Given the description of an element on the screen output the (x, y) to click on. 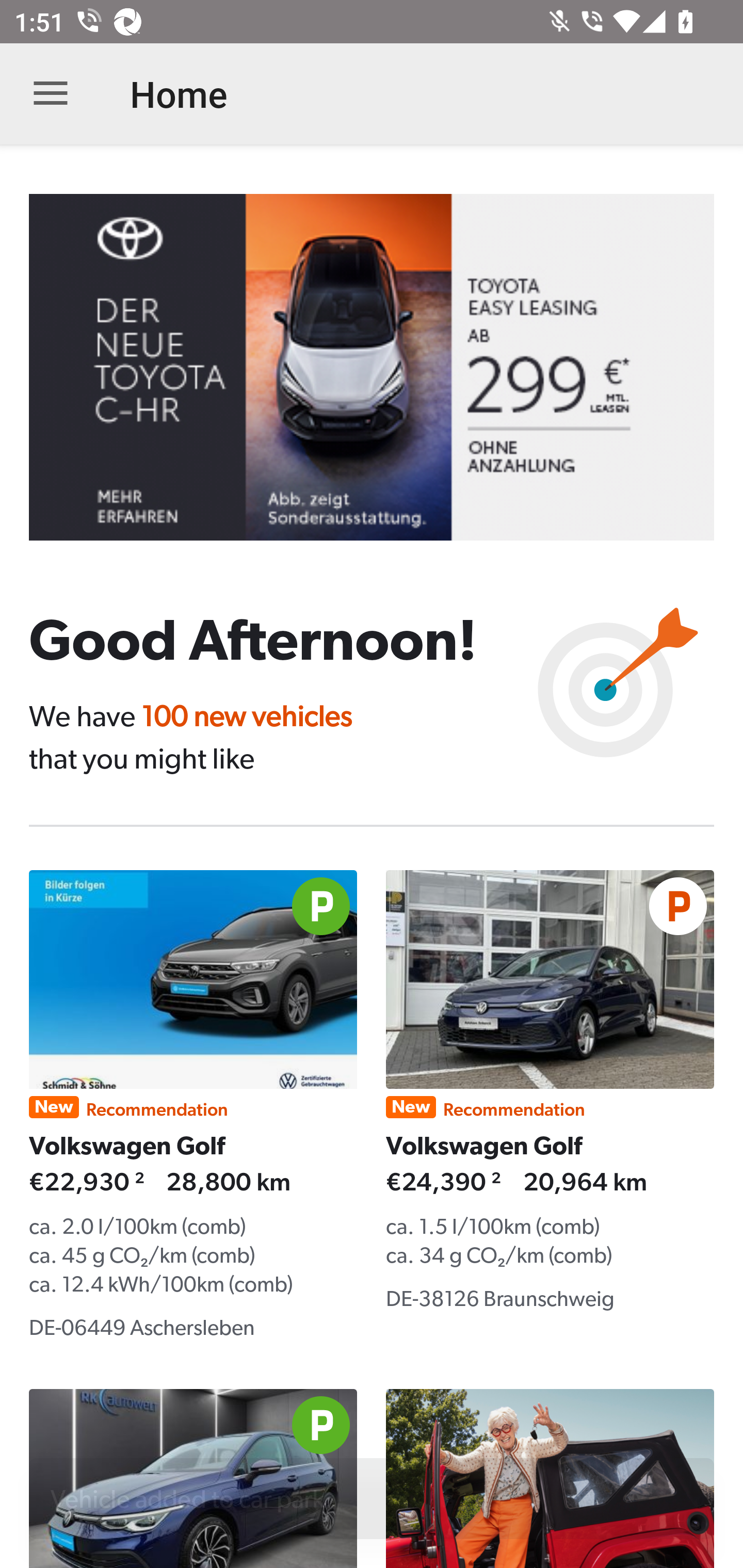
Open navigation bar (50, 93)
B31340770 (385, 367)
